Given the description of an element on the screen output the (x, y) to click on. 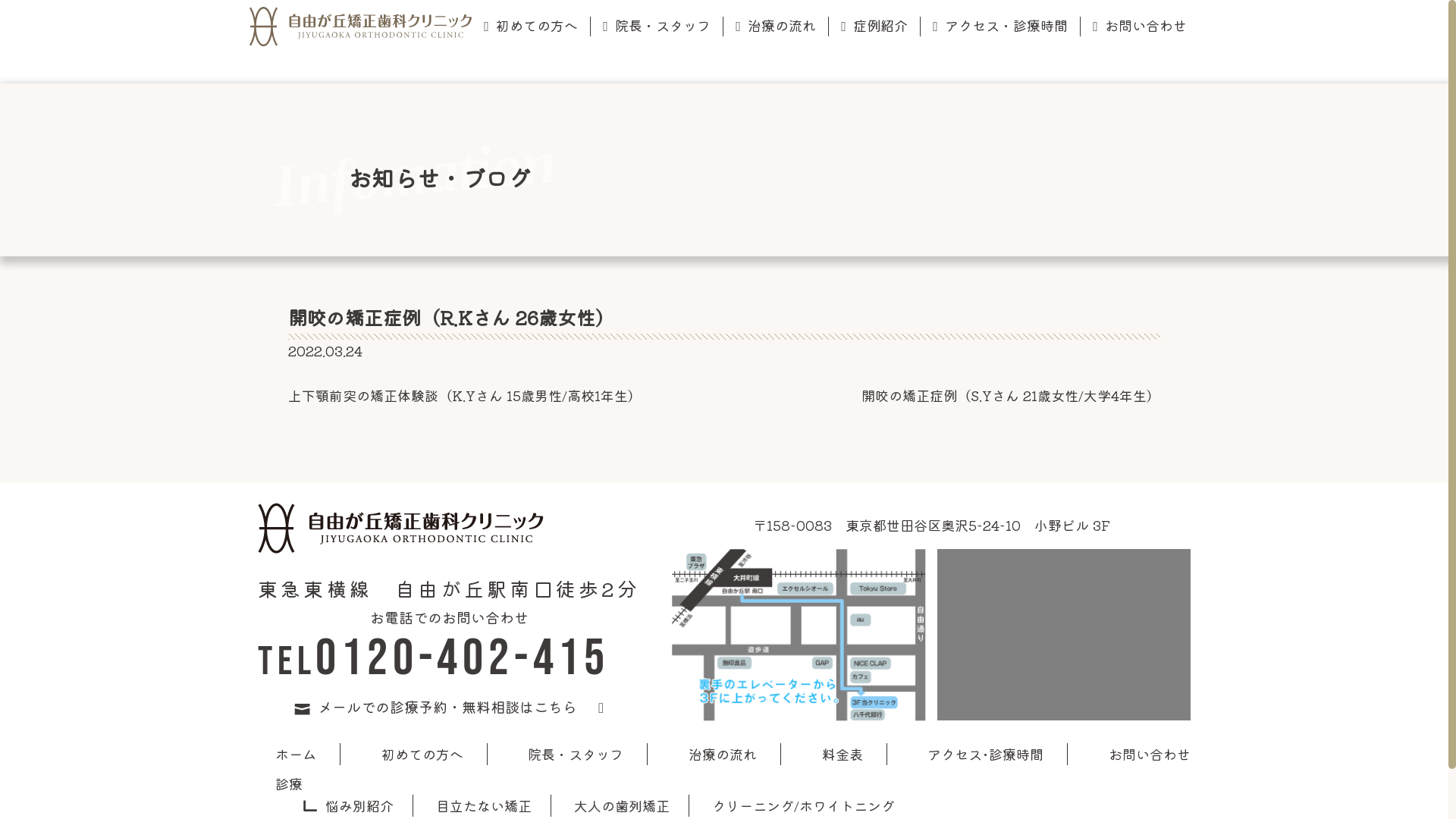
TEL0120-402-415 Element type: text (433, 658)
